Given the description of an element on the screen output the (x, y) to click on. 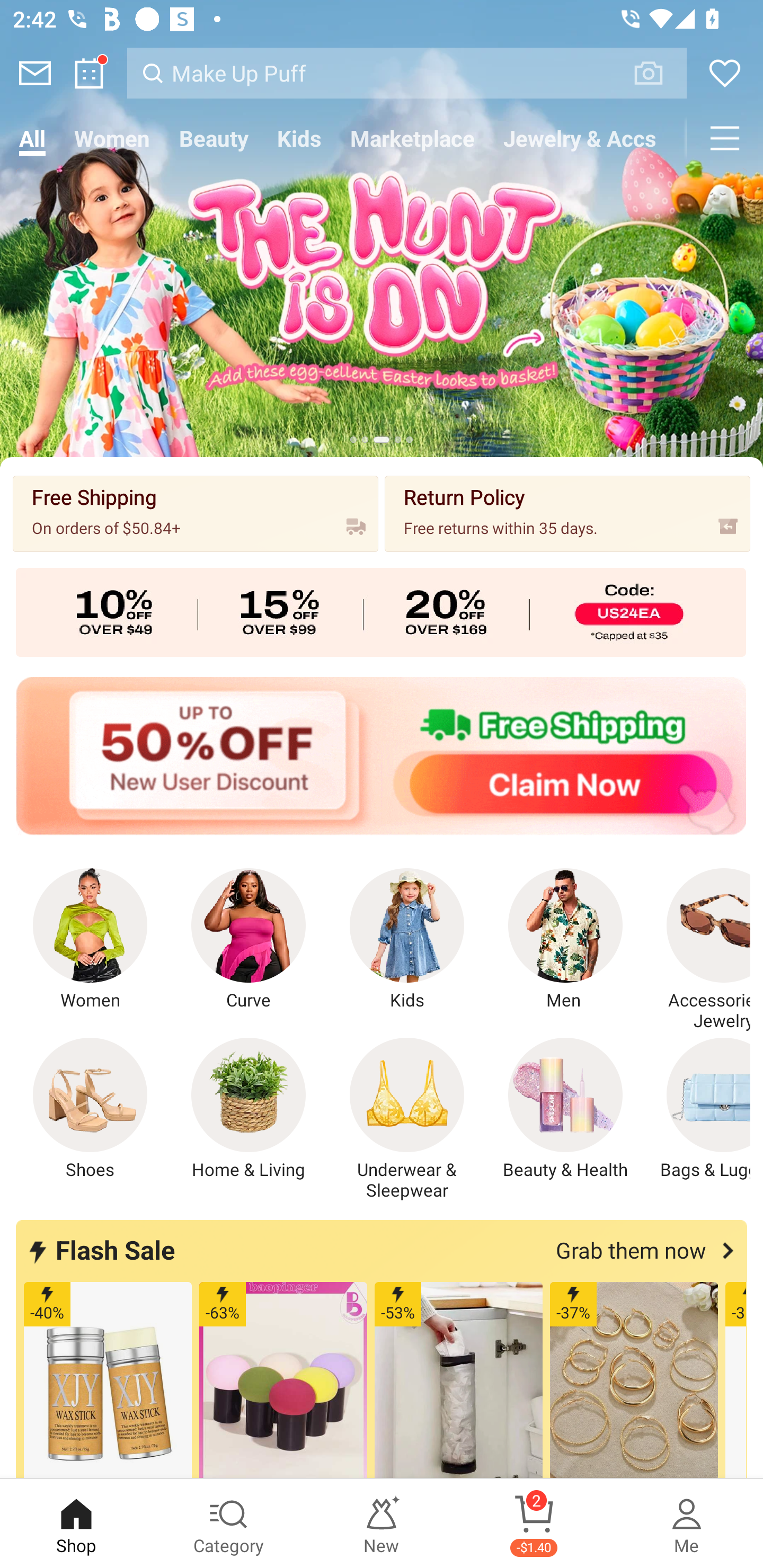
Wishlist (724, 72)
VISUAL SEARCH (657, 72)
All (31, 137)
Women (111, 137)
Beauty (213, 137)
Kids (298, 137)
Marketplace (412, 137)
Jewelry & Accs (580, 137)
Free Shipping On orders of $50.84+ (195, 513)
Return Policy Free returns within 35 days. (567, 513)
Women (89, 939)
Curve (248, 939)
Kids (406, 939)
Men  (565, 939)
Accessories & Jewelry (698, 949)
Shoes (89, 1109)
Home & Living (248, 1109)
Underwear & Sleepwear (406, 1119)
Beauty & Health (565, 1109)
Bags & Luggage (698, 1109)
Category (228, 1523)
New (381, 1523)
Cart 2 -$1.40 (533, 1523)
Me (686, 1523)
